Given the description of an element on the screen output the (x, y) to click on. 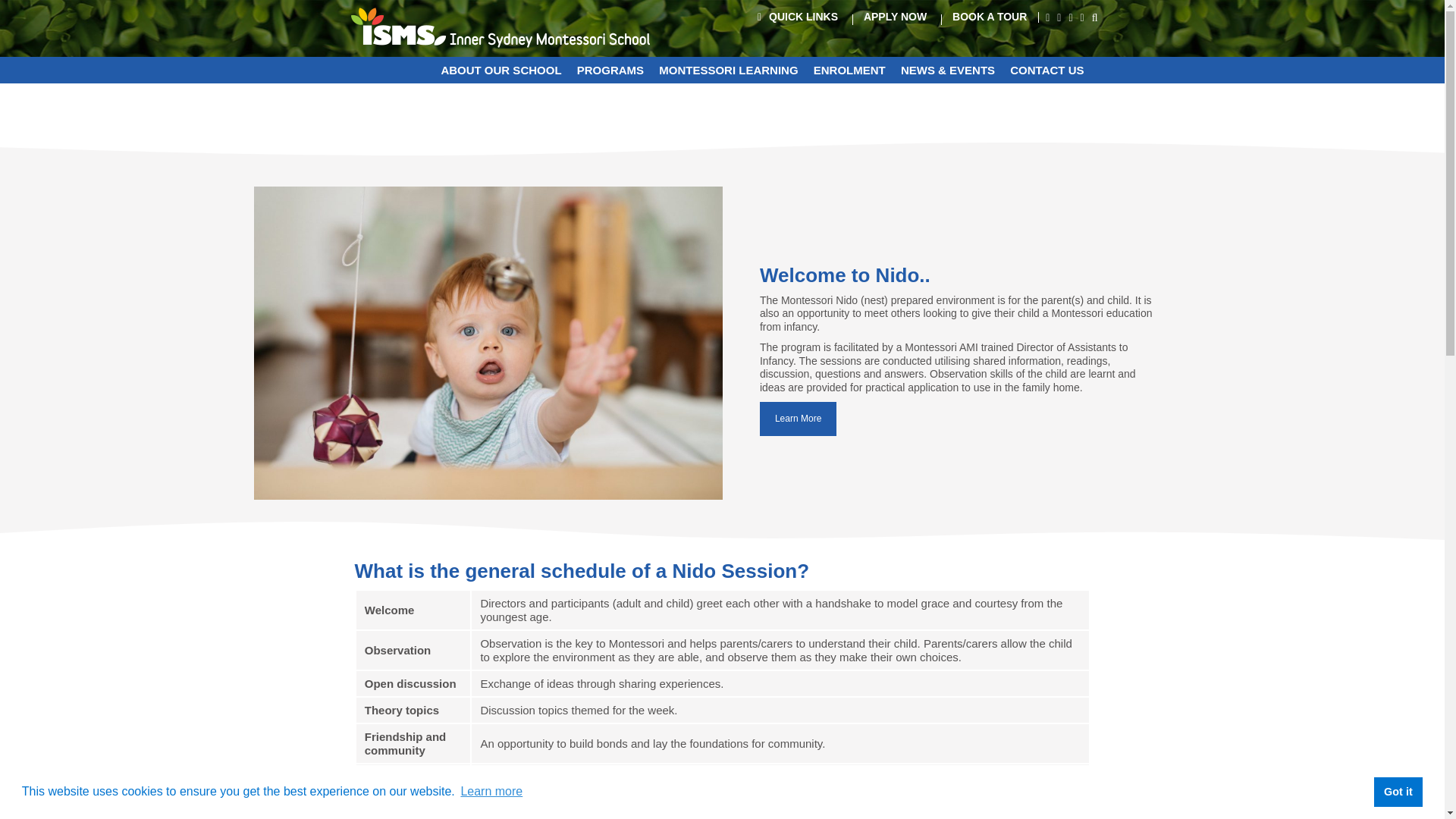
Inner Sydney Montessori School (499, 27)
APPLY NOW (894, 16)
QUICK LINKS (797, 17)
ABOUT OUR SCHOOL (500, 69)
BOOK A TOUR (989, 16)
MONTESSORI LEARNING (727, 69)
PROGRAMS (609, 69)
